Given the description of an element on the screen output the (x, y) to click on. 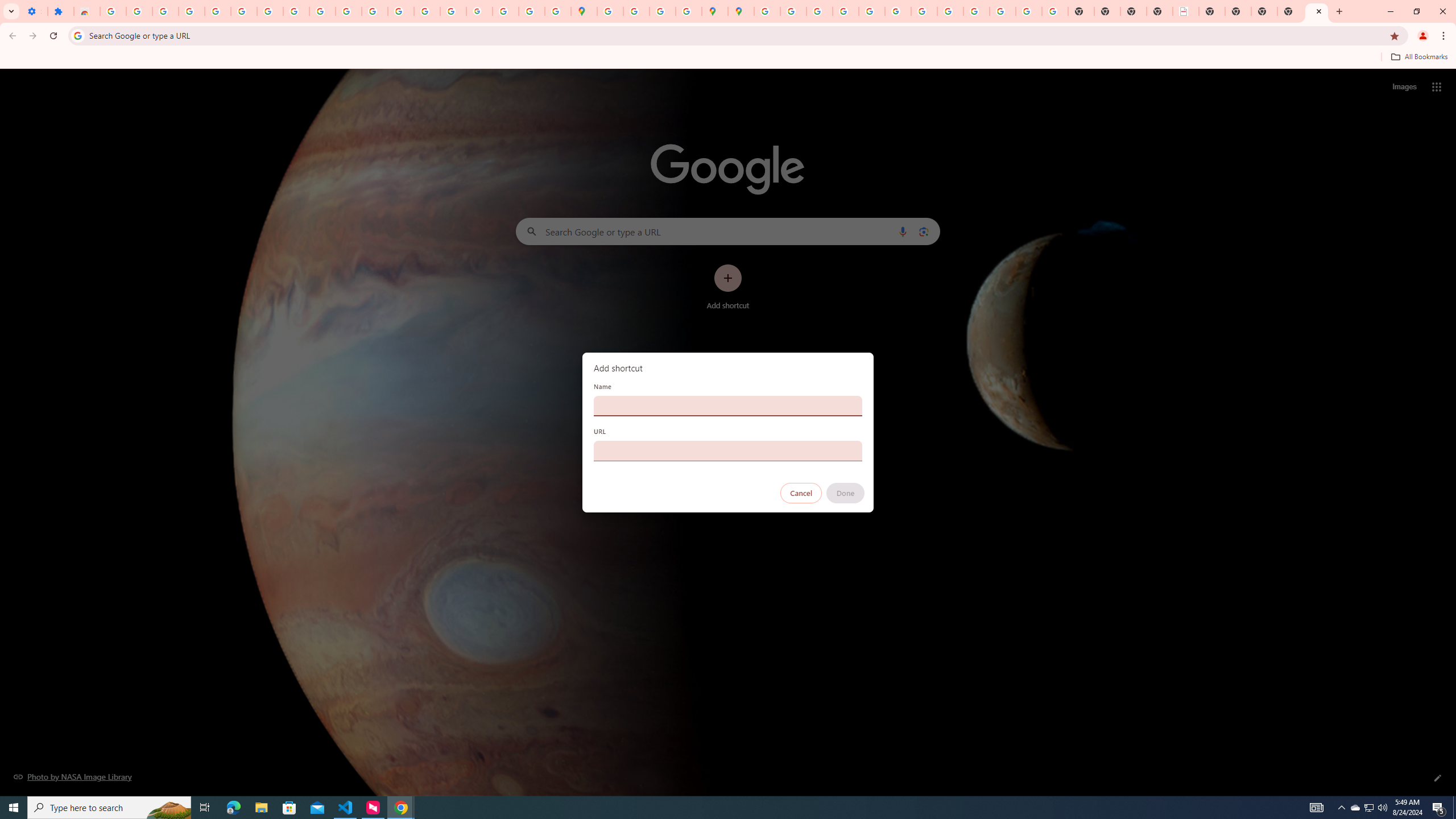
Done (845, 493)
Sign in - Google Accounts (243, 11)
New Tab (1290, 11)
Privacy Help Center - Policies Help (818, 11)
Privacy Help Center - Policies Help (845, 11)
